Given the description of an element on the screen output the (x, y) to click on. 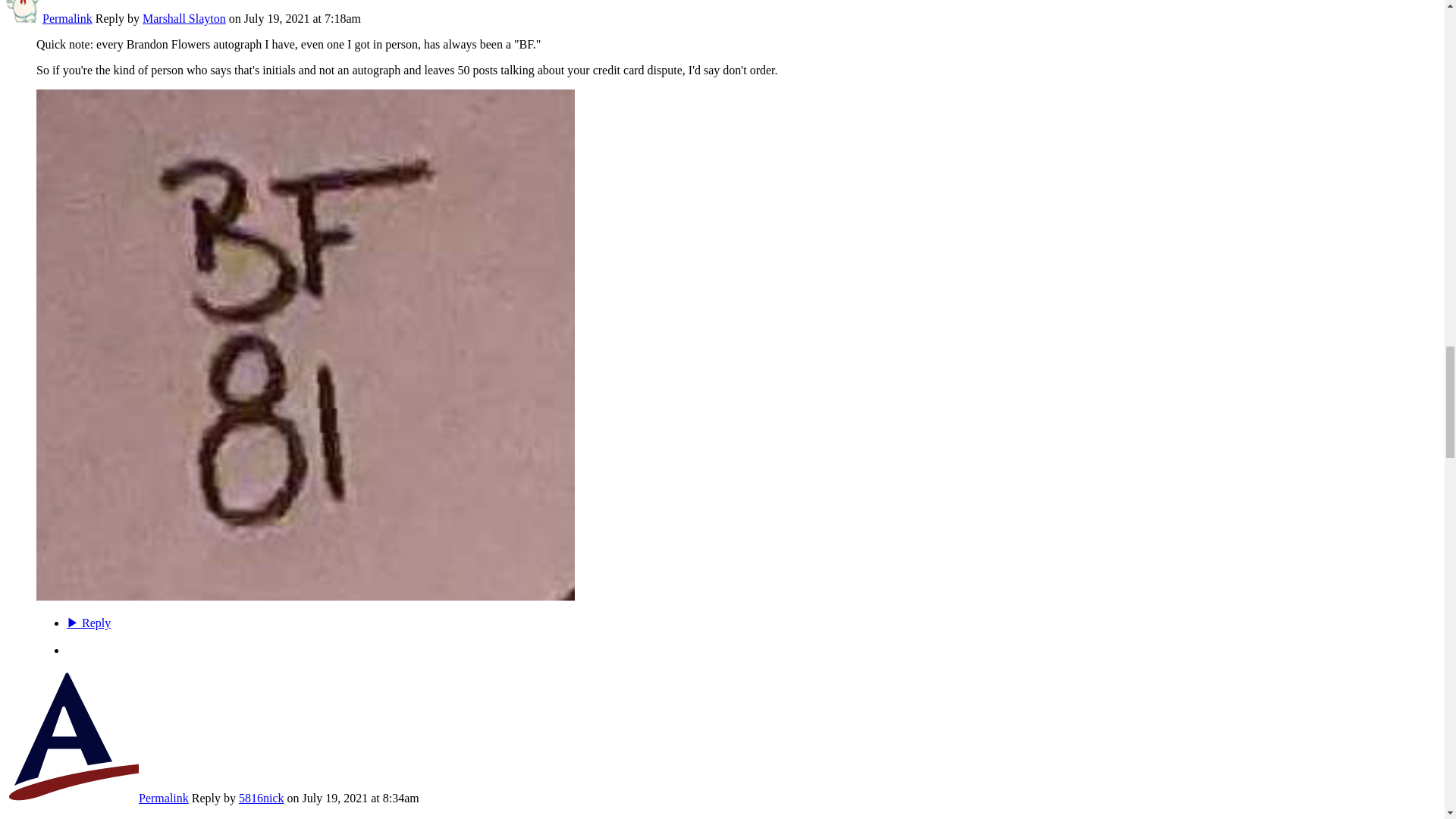
Marshall Slayton (23, 18)
